Given the description of an element on the screen output the (x, y) to click on. 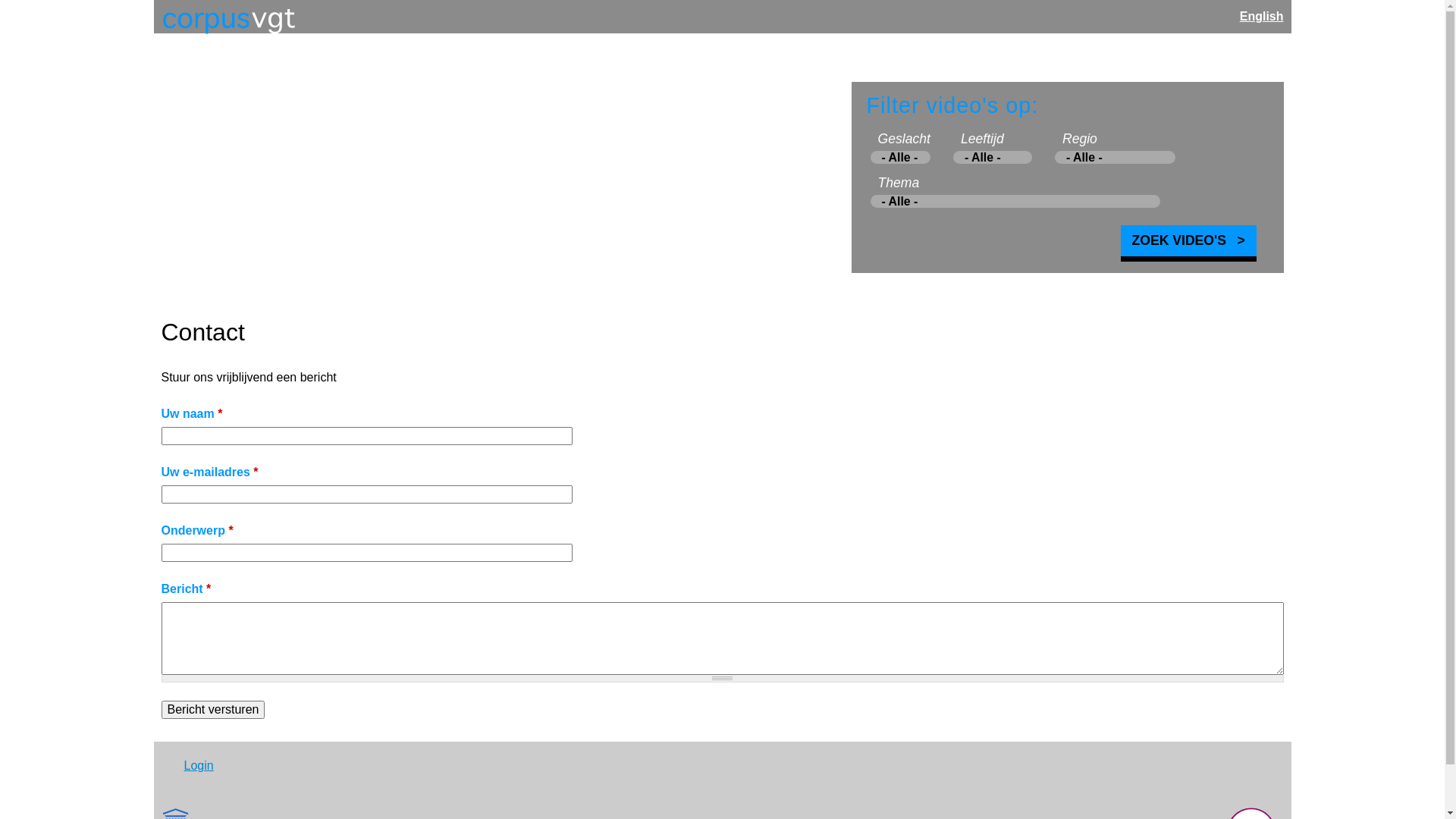
Login Element type: text (198, 765)
Jump to navigation Element type: text (722, 2)
English Element type: text (1261, 15)
Bericht versturen Element type: text (212, 709)
